Given the description of an element on the screen output the (x, y) to click on. 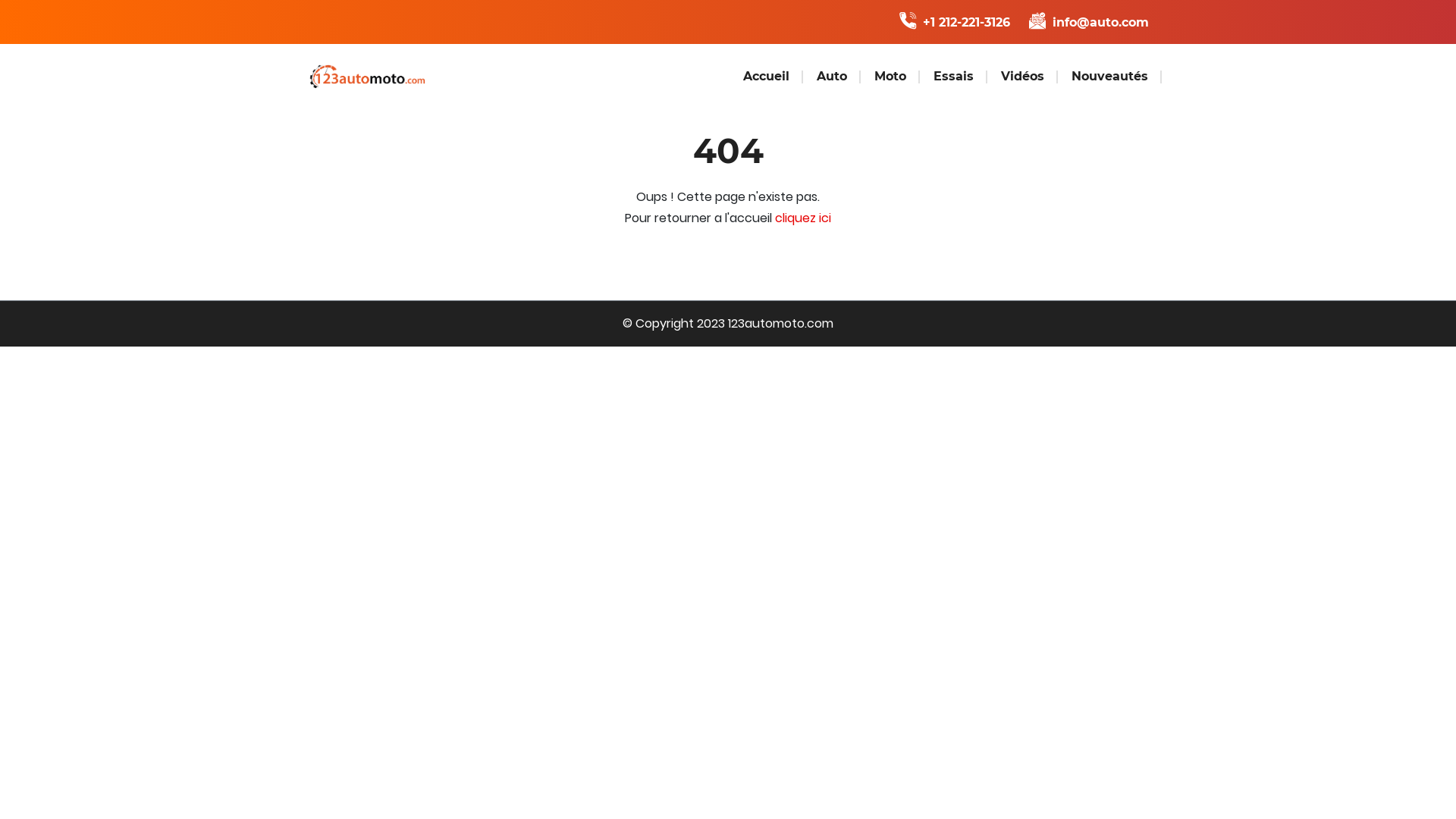
Auto Element type: text (831, 76)
Accueil Element type: text (766, 76)
+1 212-221-3126 Element type: text (956, 22)
Moto Element type: text (890, 76)
cliquez ici Element type: text (803, 217)
Essais Element type: text (953, 76)
info@auto.com Element type: text (1088, 22)
